Given the description of an element on the screen output the (x, y) to click on. 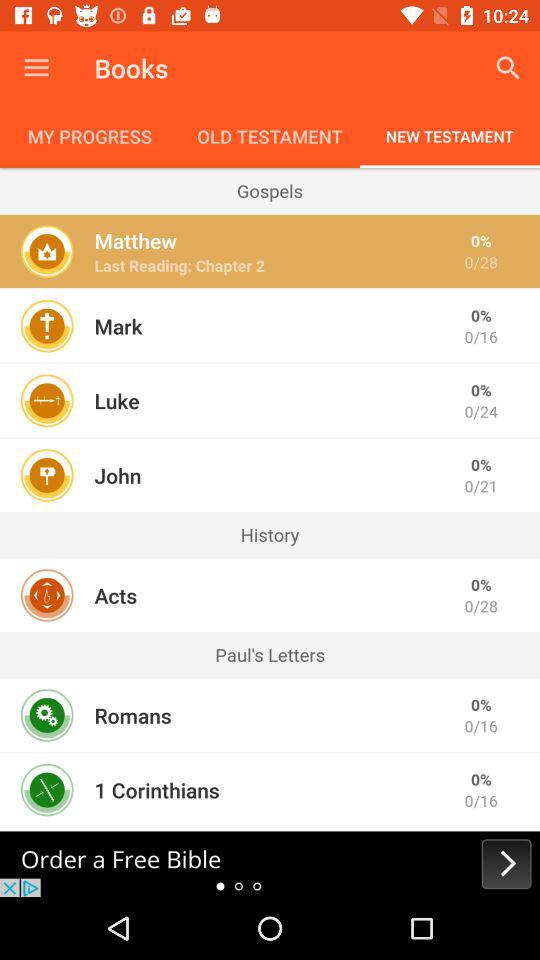
flip to the 1 corinthians item (156, 789)
